Given the description of an element on the screen output the (x, y) to click on. 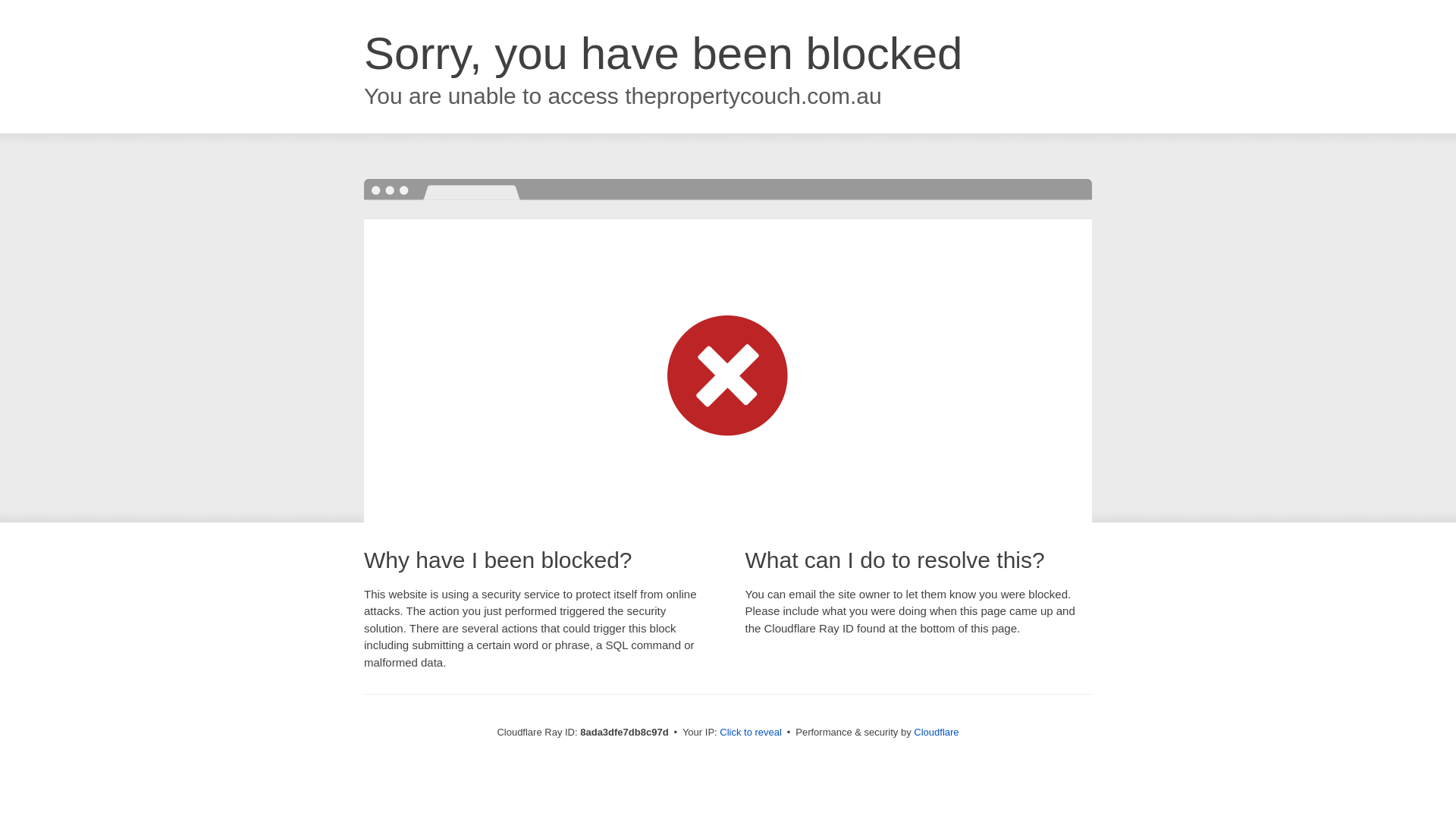
Cloudflare (936, 731)
Click to reveal (750, 732)
